Given the description of an element on the screen output the (x, y) to click on. 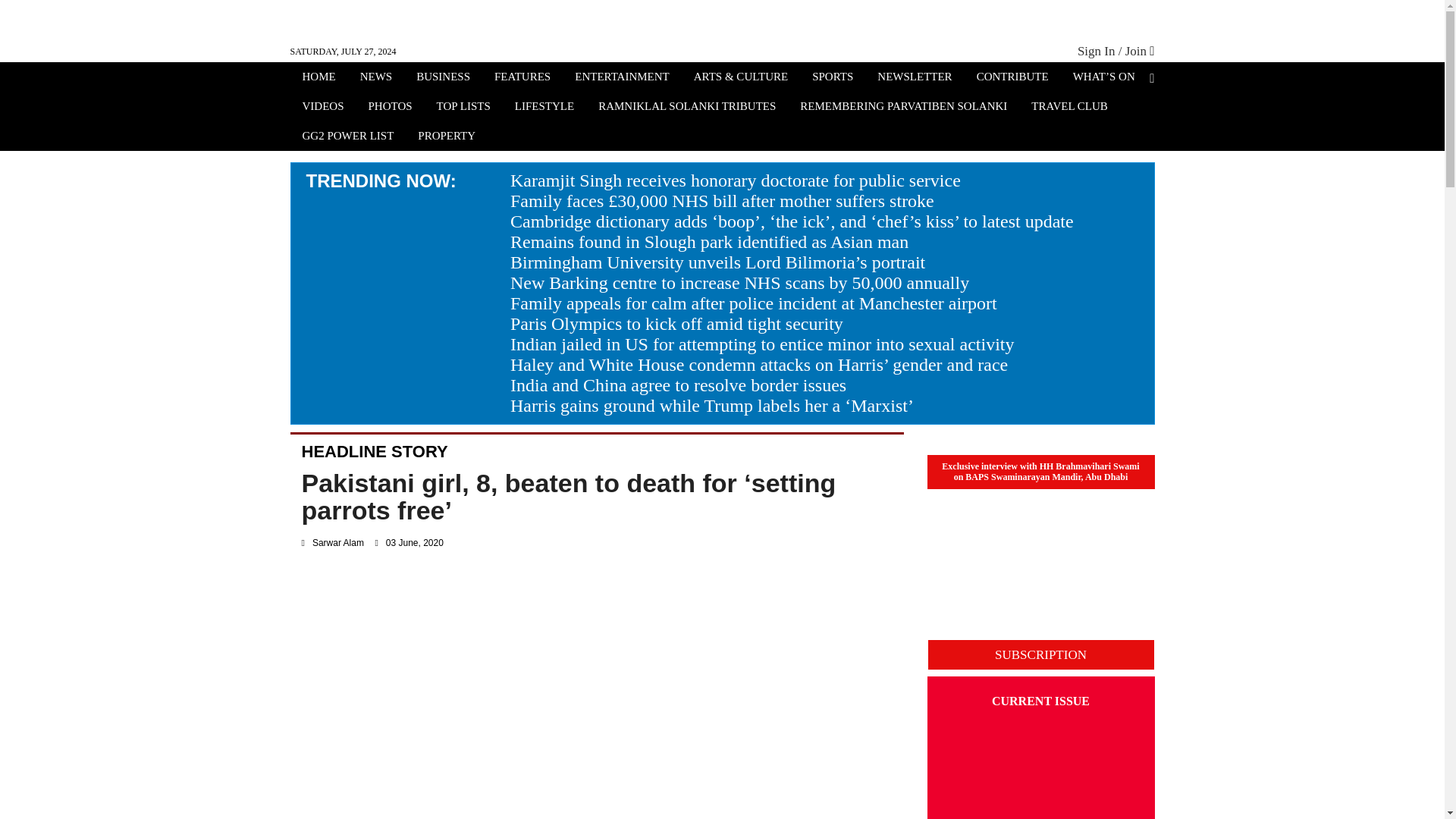
Remains found in Slough park identified as Asian man (709, 241)
TRAVEL CLUB (1069, 108)
FEATURES (521, 78)
SPORTS (832, 78)
PROPERTY (446, 137)
Paris Olympics to kick off amid tight security (677, 323)
RAMNIKLAL SOLANKI TRIBUTES (686, 108)
ENTERTAINMENT (622, 78)
BUSINESS (443, 78)
NEWS (375, 78)
TOP LISTS (463, 108)
LIFESTYLE (543, 108)
New Barking centre to increase NHS scans by 50,000 annually (740, 282)
GG2 POWER LIST (346, 137)
